Given the description of an element on the screen output the (x, y) to click on. 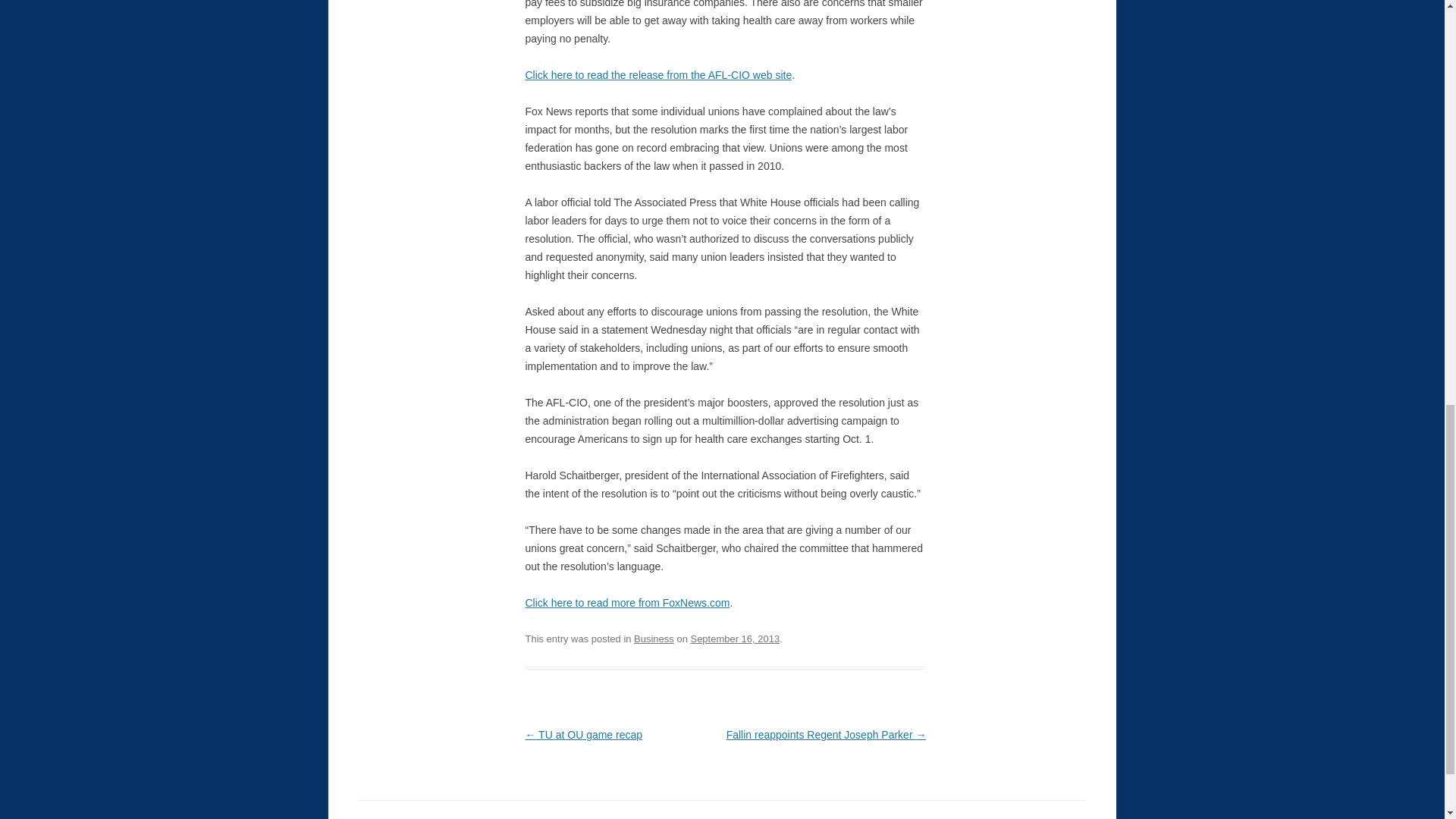
Click here to read the release from the AFL-CIO web site (658, 74)
Click here to read more from FoxNews.com (626, 603)
3:38 pm (734, 638)
Click here to read the release from the AFL-CIO web site (658, 74)
September 16, 2013 (734, 638)
Business (653, 638)
Click here to read more from FoxNews.com (626, 603)
